Given the description of an element on the screen output the (x, y) to click on. 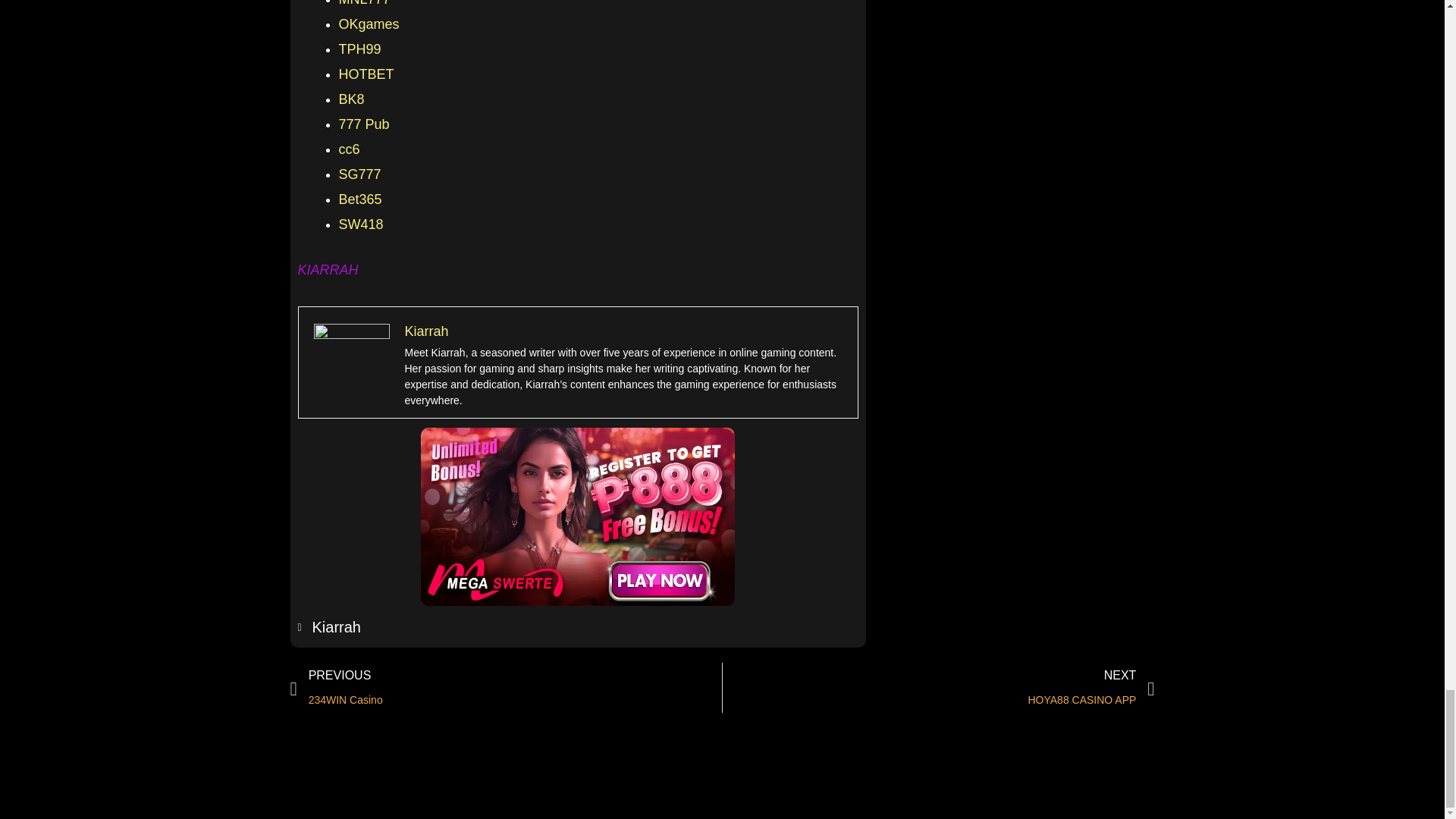
TPH99 (358, 48)
MNL777 (363, 3)
Kiarrah (328, 627)
BK8 (350, 99)
SG777 (358, 174)
cc6 (348, 149)
Kiarrah (426, 331)
777 Pub (362, 124)
OKgames (367, 23)
SW418 (359, 224)
